Given the description of an element on the screen output the (x, y) to click on. 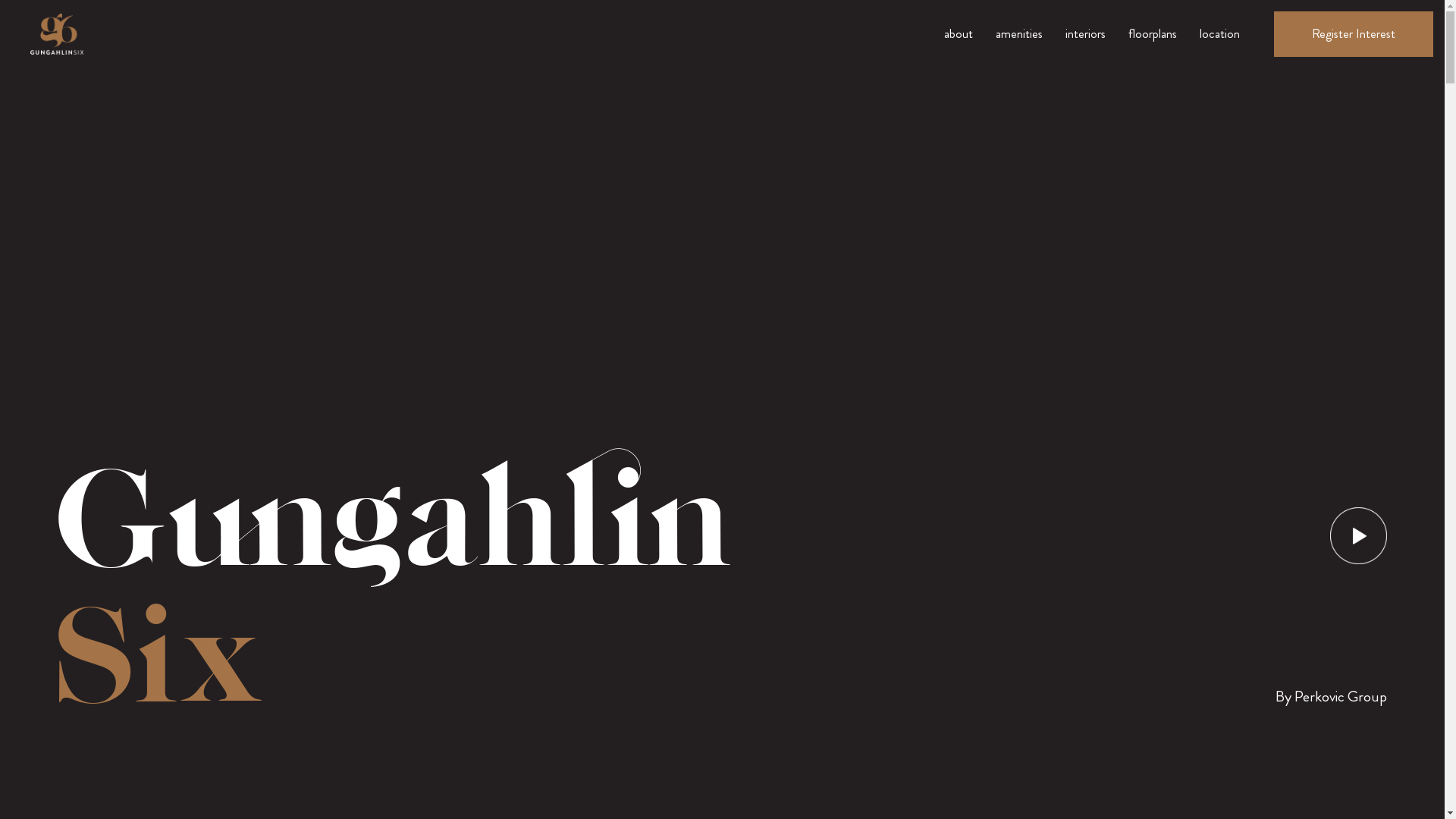
floorplans Element type: text (1152, 33)
location Element type: text (1219, 33)
amenities Element type: text (1018, 33)
interiors Element type: text (1085, 33)
about Element type: text (958, 33)
Register Interest Element type: text (1353, 33)
